Given the description of an element on the screen output the (x, y) to click on. 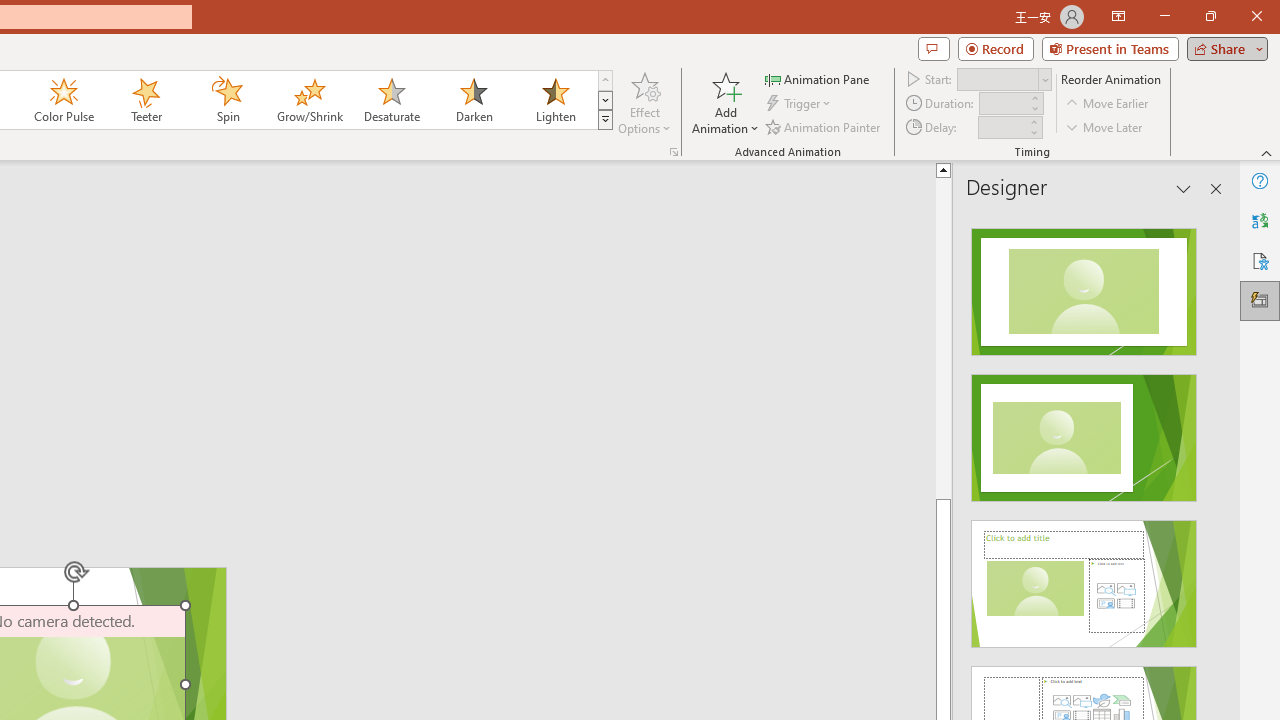
More (1033, 121)
Move Later (1105, 126)
Desaturate (391, 100)
Trigger (799, 103)
Recommended Design: Design Idea (1083, 286)
